Given the description of an element on the screen output the (x, y) to click on. 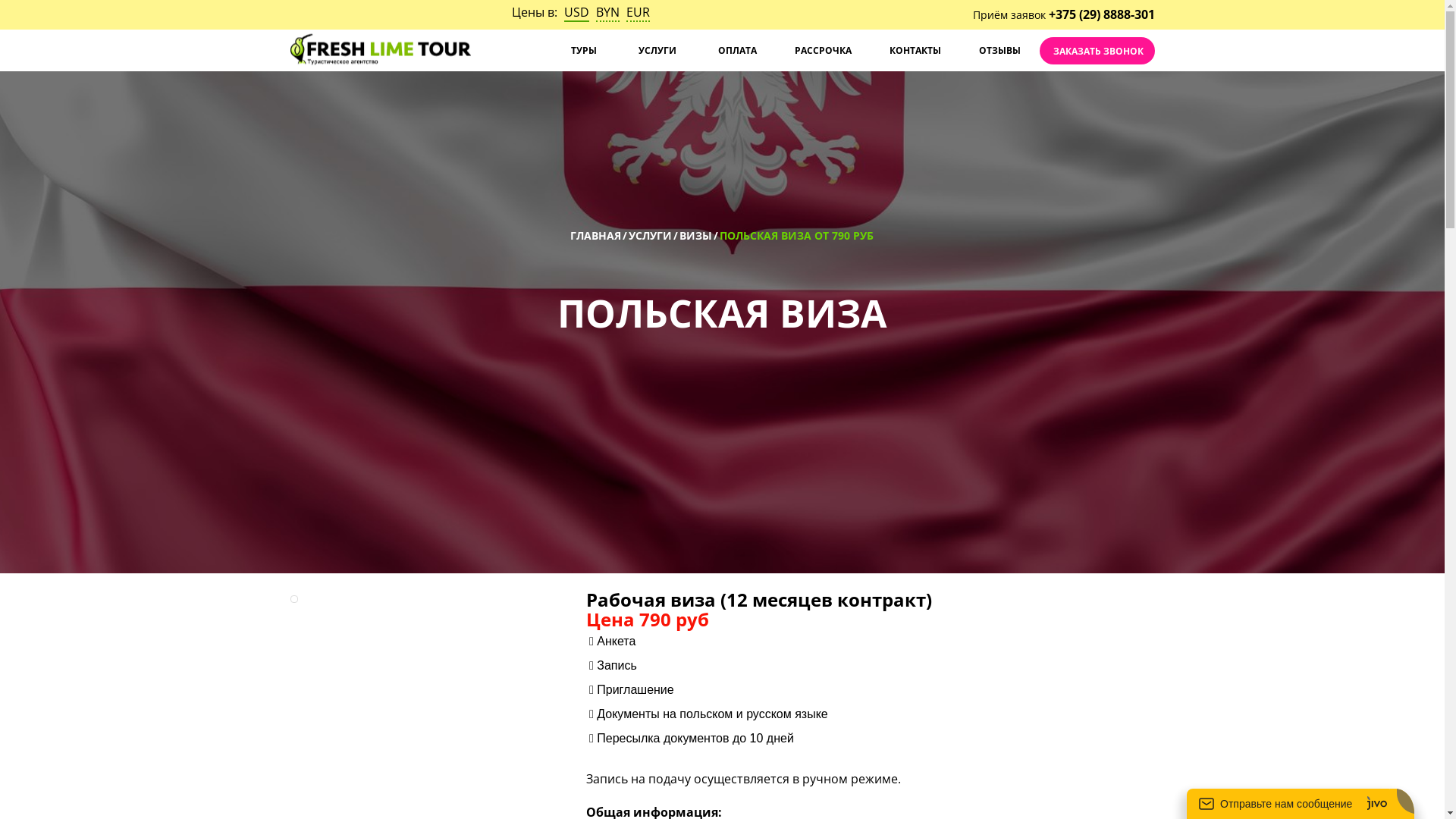
EUR Element type: text (637, 12)
+375 (29) 8888-301 Element type: text (1101, 14)
USD Element type: text (576, 12)
BYN Element type: text (607, 12)
